Given the description of an element on the screen output the (x, y) to click on. 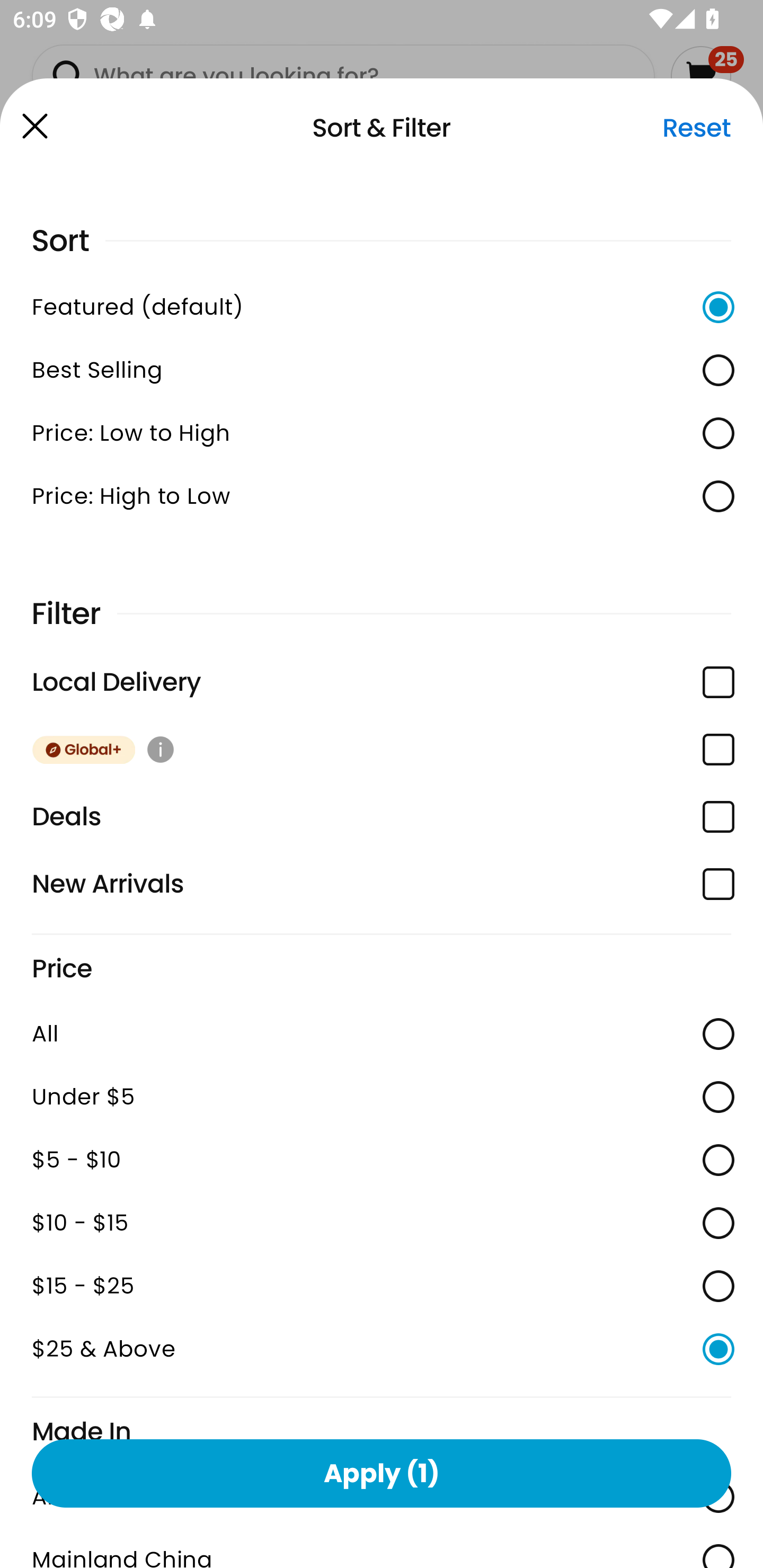
Reset (696, 127)
Apply (1) (381, 1472)
